Given the description of an element on the screen output the (x, y) to click on. 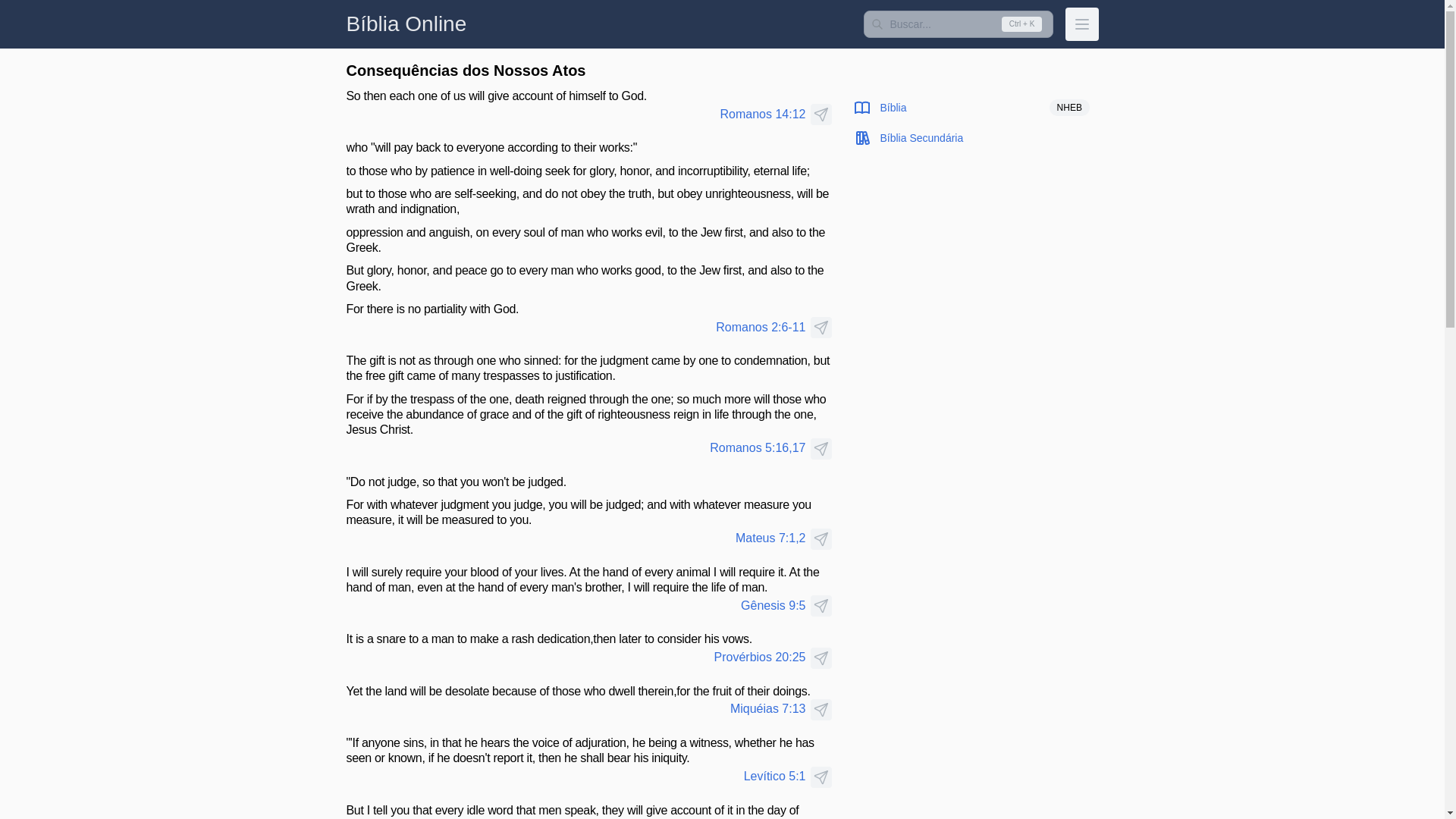
Romanos 14:12 (575, 114)
Romanos 2:6-11 (575, 327)
Romanos 5:16,17 (575, 447)
Mateus 7:1,2 (575, 538)
